Given the description of an element on the screen output the (x, y) to click on. 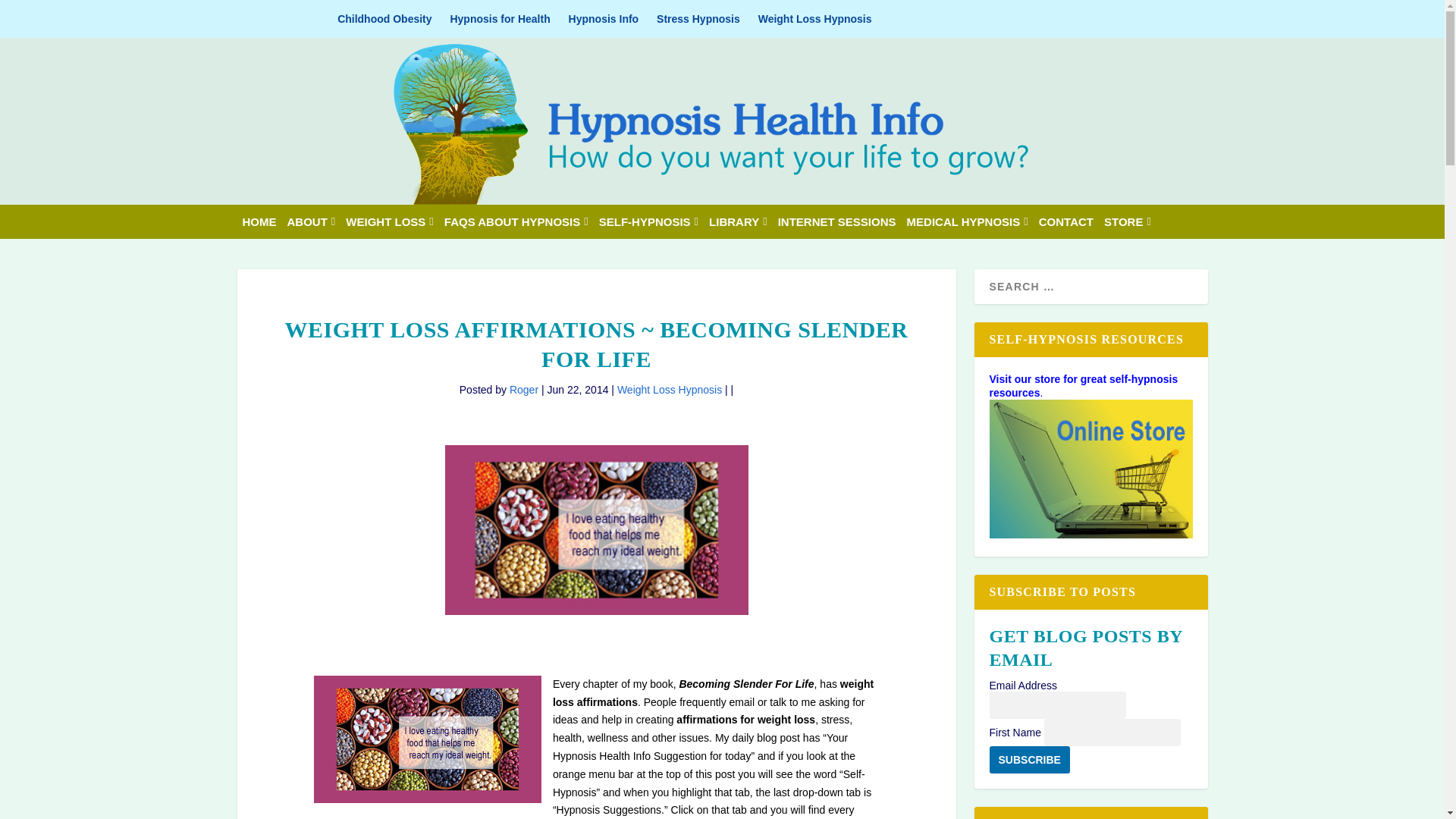
ABOUT (310, 221)
INTERNET SESSIONS (836, 221)
Childhood Obesity (383, 18)
HOME (259, 221)
MEDICAL HYPNOSIS (967, 221)
Posts by Roger (523, 389)
Hypnosis for Health (499, 18)
Hypnosis Info (604, 18)
WEIGHT LOSS (389, 221)
LIBRARY (738, 221)
Weight Loss Hypnosis (815, 18)
Stress Hypnosis (697, 18)
SELF-HYPNOSIS (648, 221)
FAQS ABOUT HYPNOSIS (516, 221)
Subscribe (1028, 759)
